Given the description of an element on the screen output the (x, y) to click on. 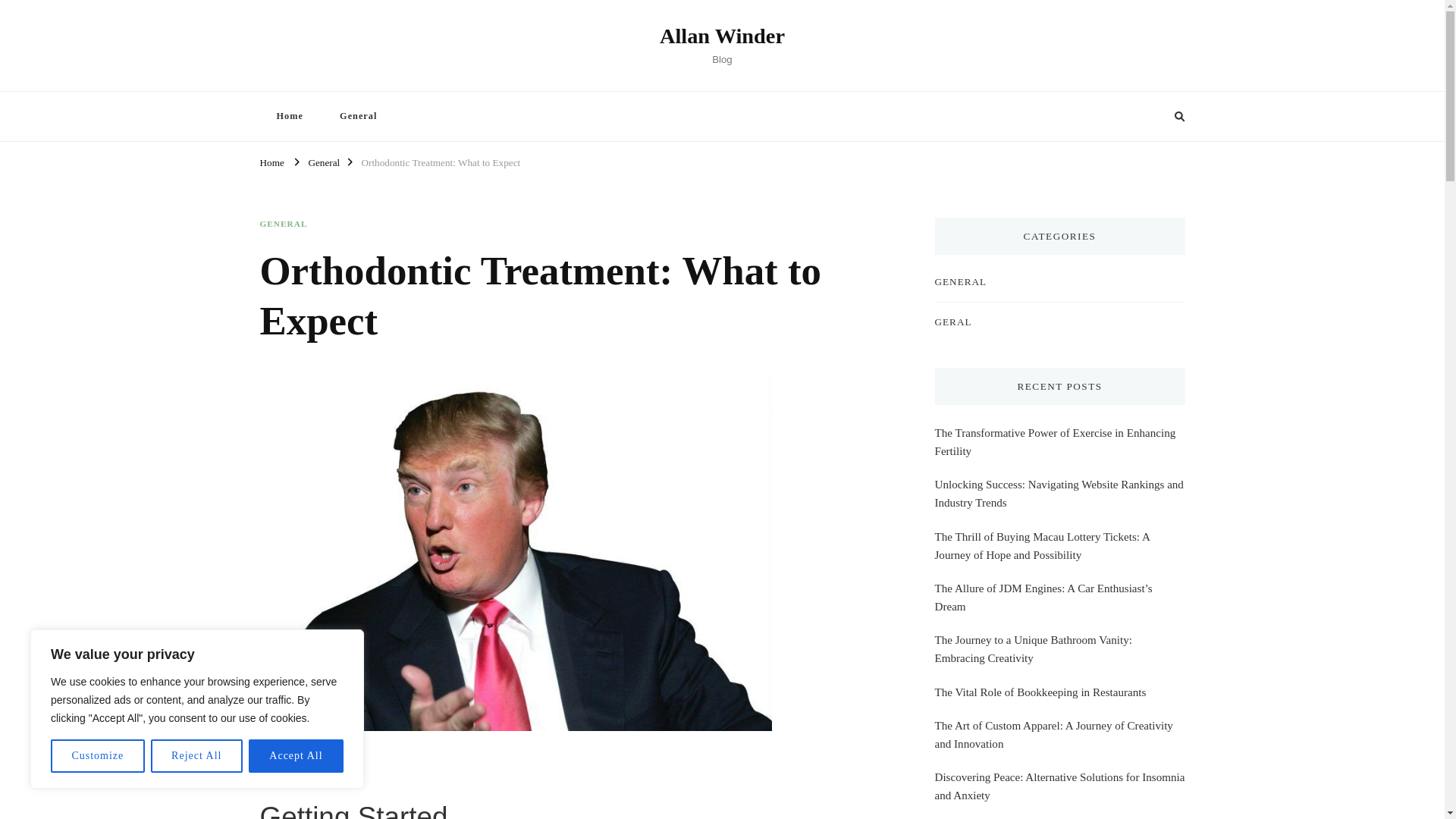
General (323, 161)
Allan Winder (721, 35)
Reject All (197, 756)
Customize (97, 756)
Home (271, 161)
Accept All (295, 756)
Orthodontic Treatment: What to Expect (440, 161)
General (358, 115)
GENERAL (283, 223)
Home (288, 115)
